Given the description of an element on the screen output the (x, y) to click on. 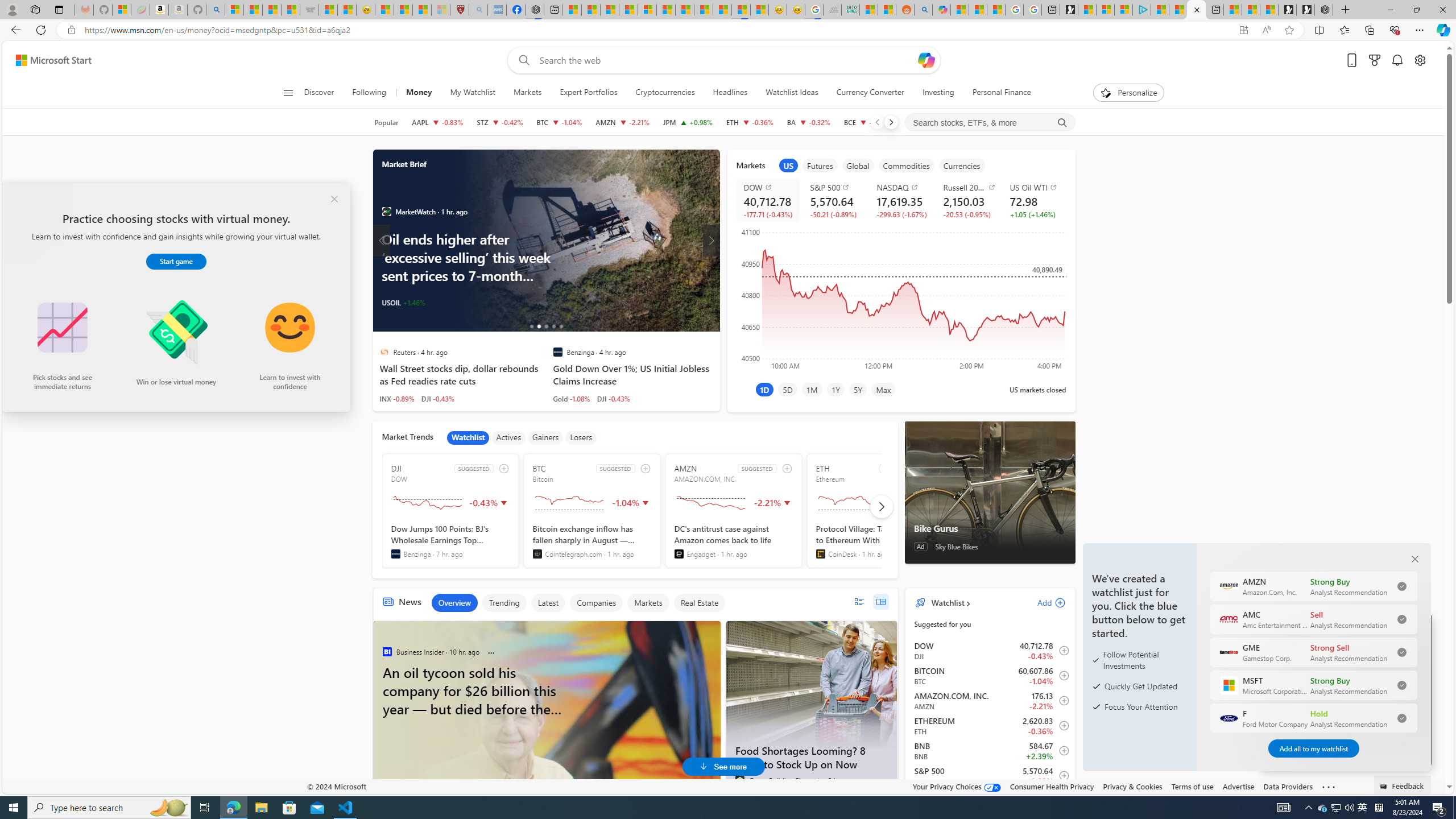
Class: recharts-surface (900, 298)
Data Providers (1288, 785)
Russell 2000 RUT decrease 2,150.03 -20.53 -0.95% (968, 200)
Next (890, 122)
Bike Gurus (989, 492)
Watchlist Ideas (792, 92)
